Given the description of an element on the screen output the (x, y) to click on. 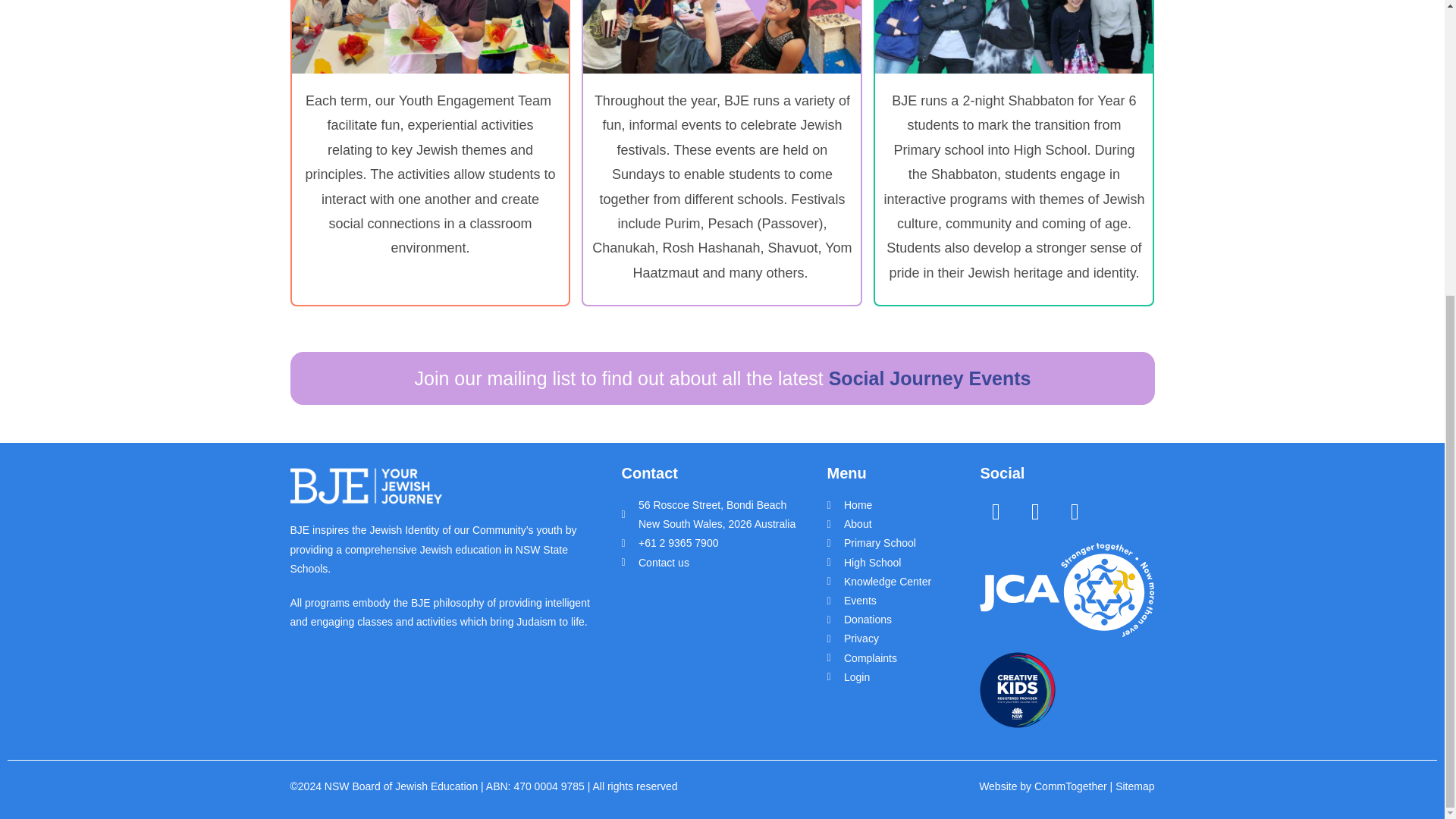
Social Journey 3 (1014, 36)
Social Journey 2 (721, 36)
Social Journey 1 (430, 36)
